Given the description of an element on the screen output the (x, y) to click on. 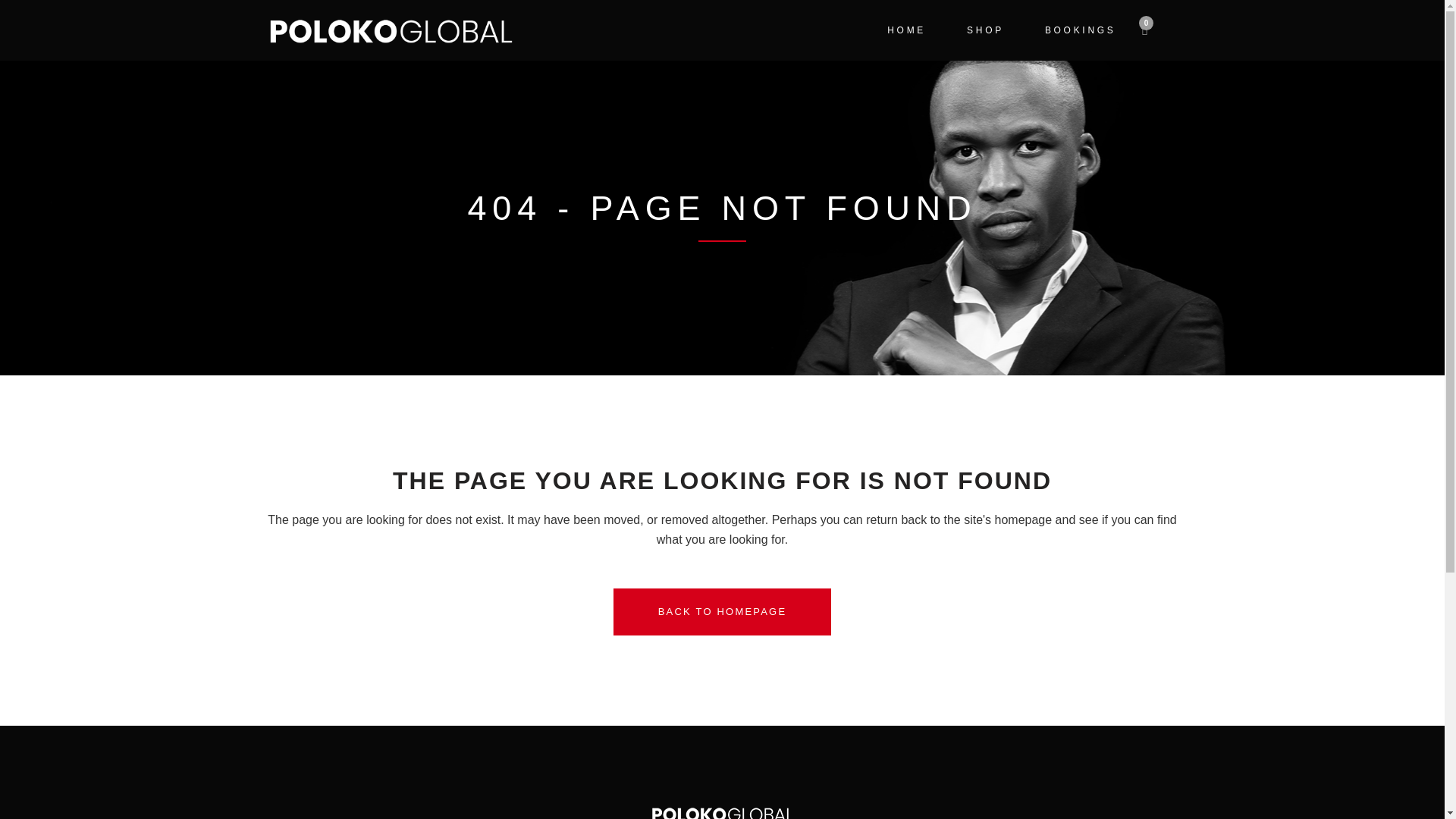
BOOKINGS (1081, 30)
BACK TO HOMEPAGE (721, 611)
HOME (906, 30)
SHOP (985, 30)
